Given the description of an element on the screen output the (x, y) to click on. 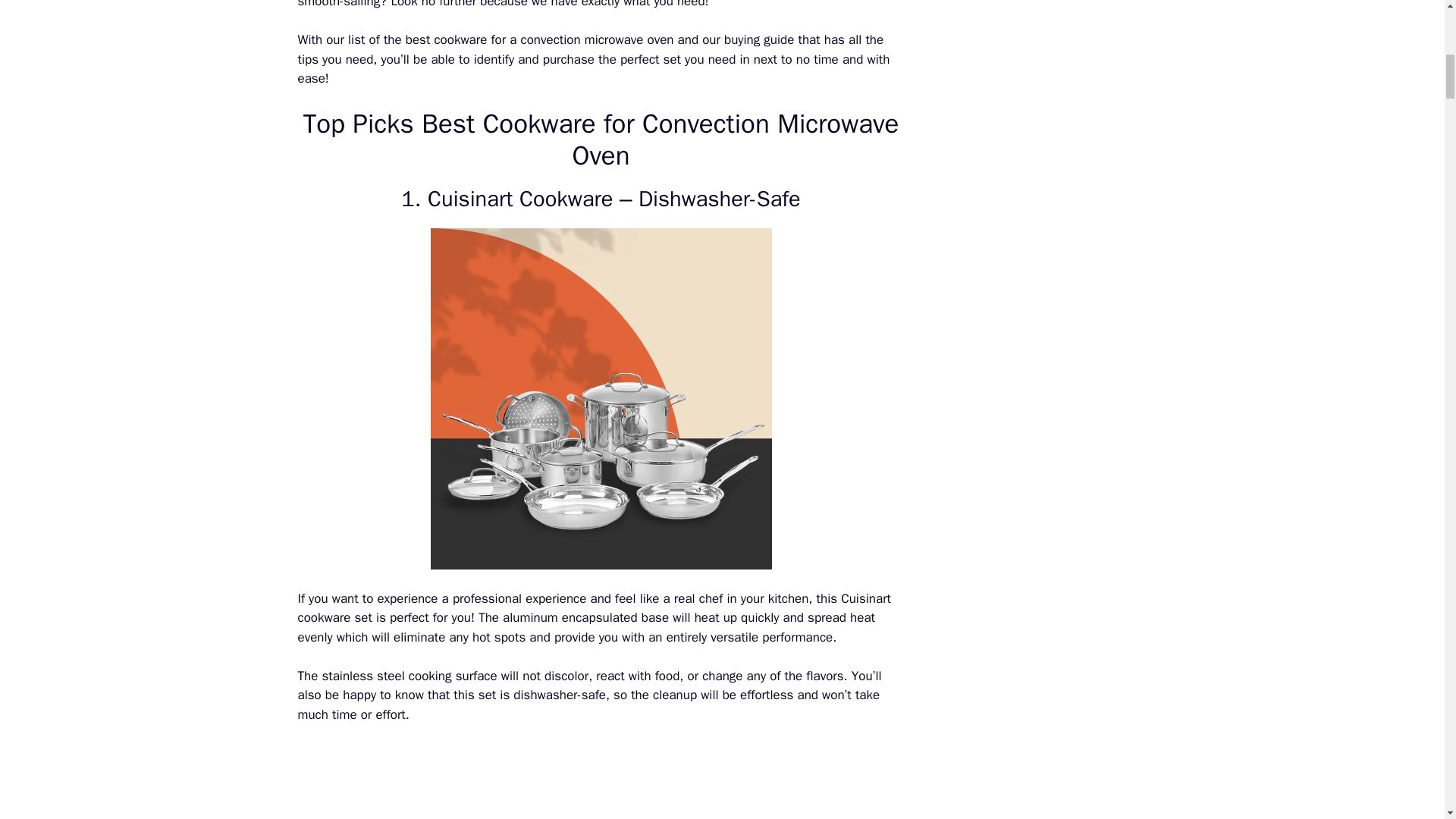
YouTube video player (600, 780)
Scroll back to top (1406, 720)
